Given the description of an element on the screen output the (x, y) to click on. 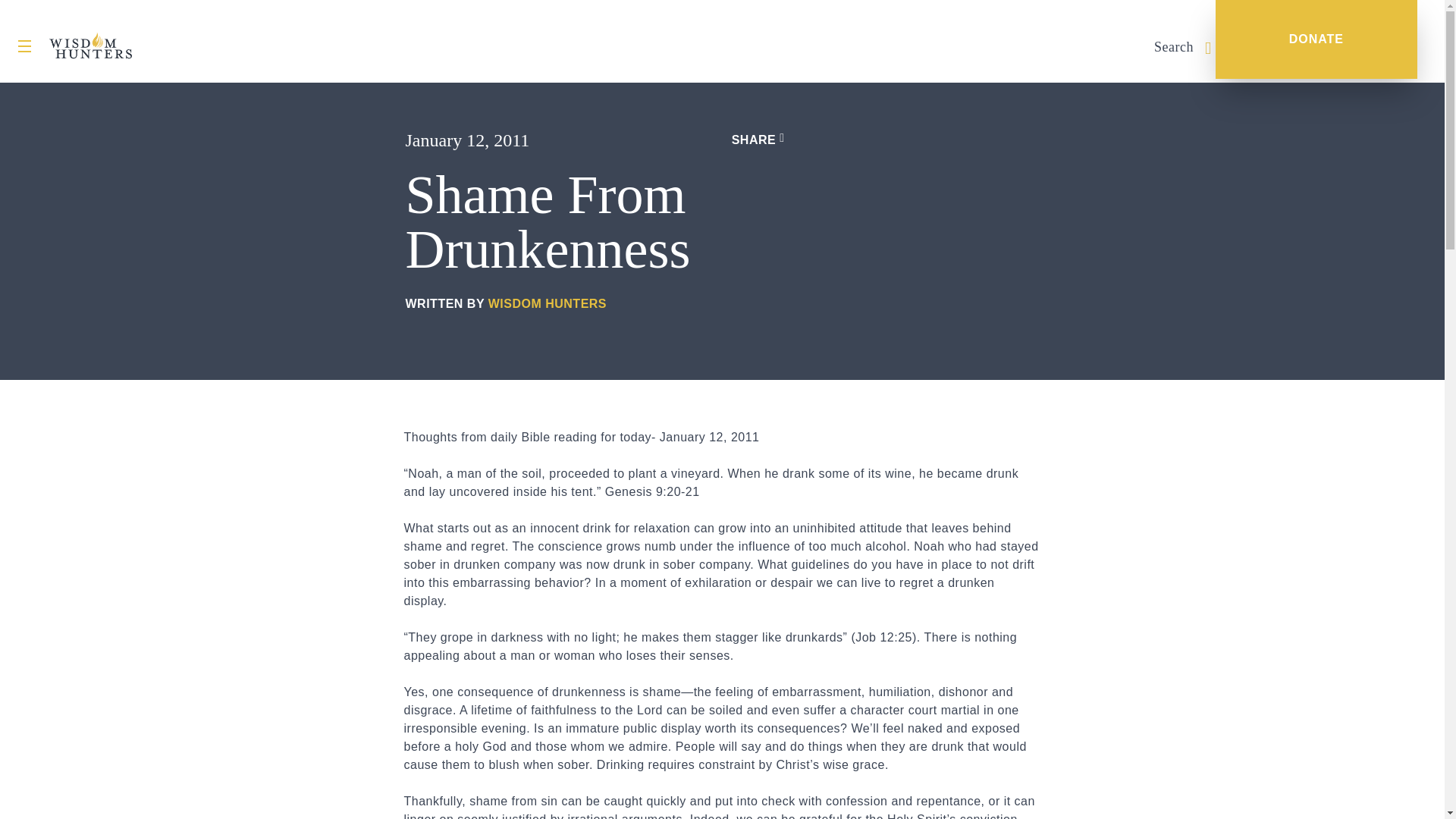
WISDOM HUNTERS (547, 303)
DONATE (1315, 39)
Search    (1182, 46)
SHARE (758, 139)
